Given the description of an element on the screen output the (x, y) to click on. 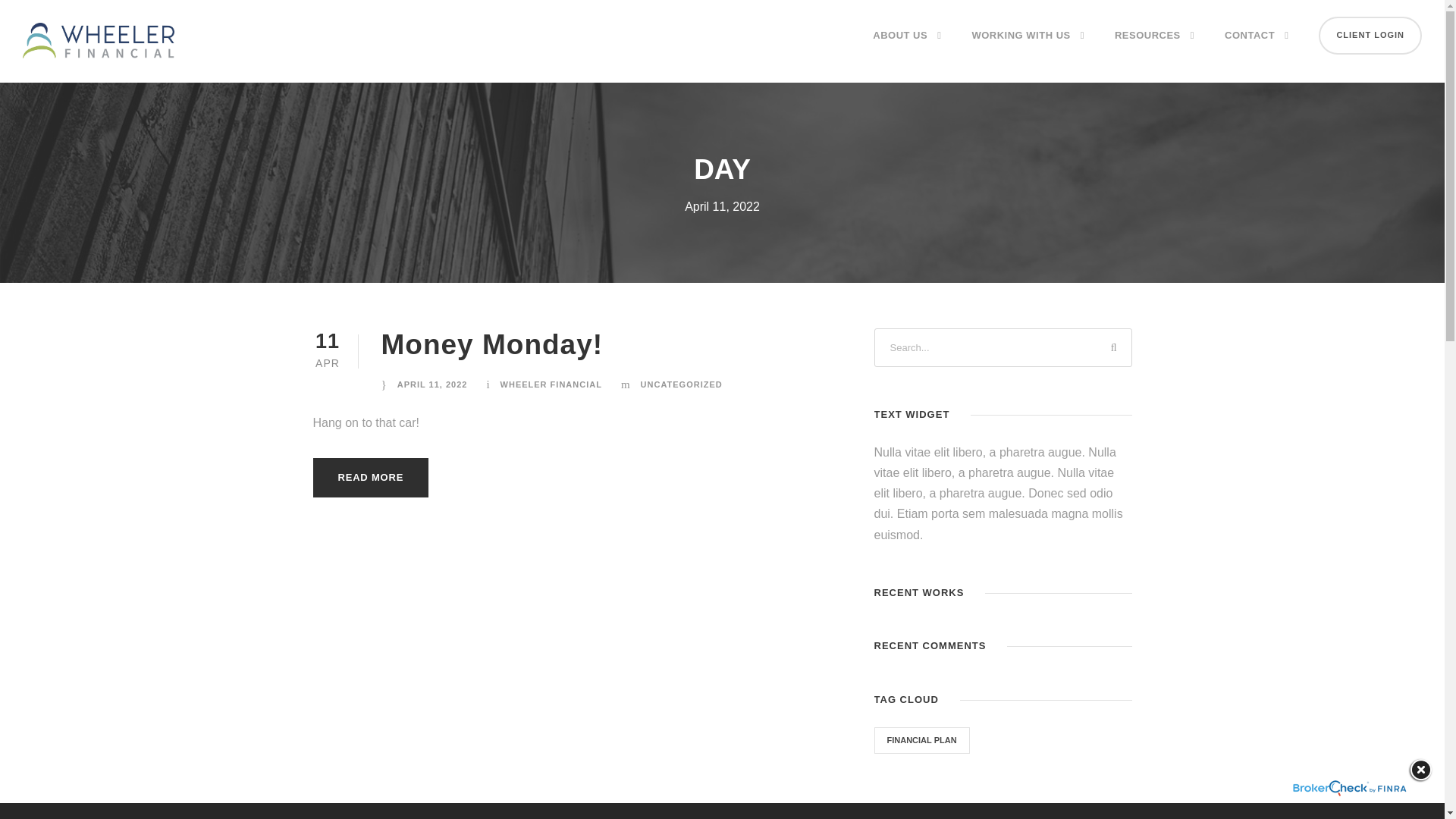
CONTACT (1256, 48)
Posts by Wheeler Financial (551, 384)
ABOUT US (906, 48)
WORKING WITH US (1027, 48)
UNCATEGORIZED (681, 384)
Search (1112, 347)
READ MORE (370, 477)
CLIENT LOGIN (1370, 35)
WHEELER FINANCIAL (551, 384)
RESOURCES (1154, 48)
FINANCIAL PLAN (922, 740)
APRIL 11, 2022 (432, 384)
Money Monday! (491, 344)
